Given the description of an element on the screen output the (x, y) to click on. 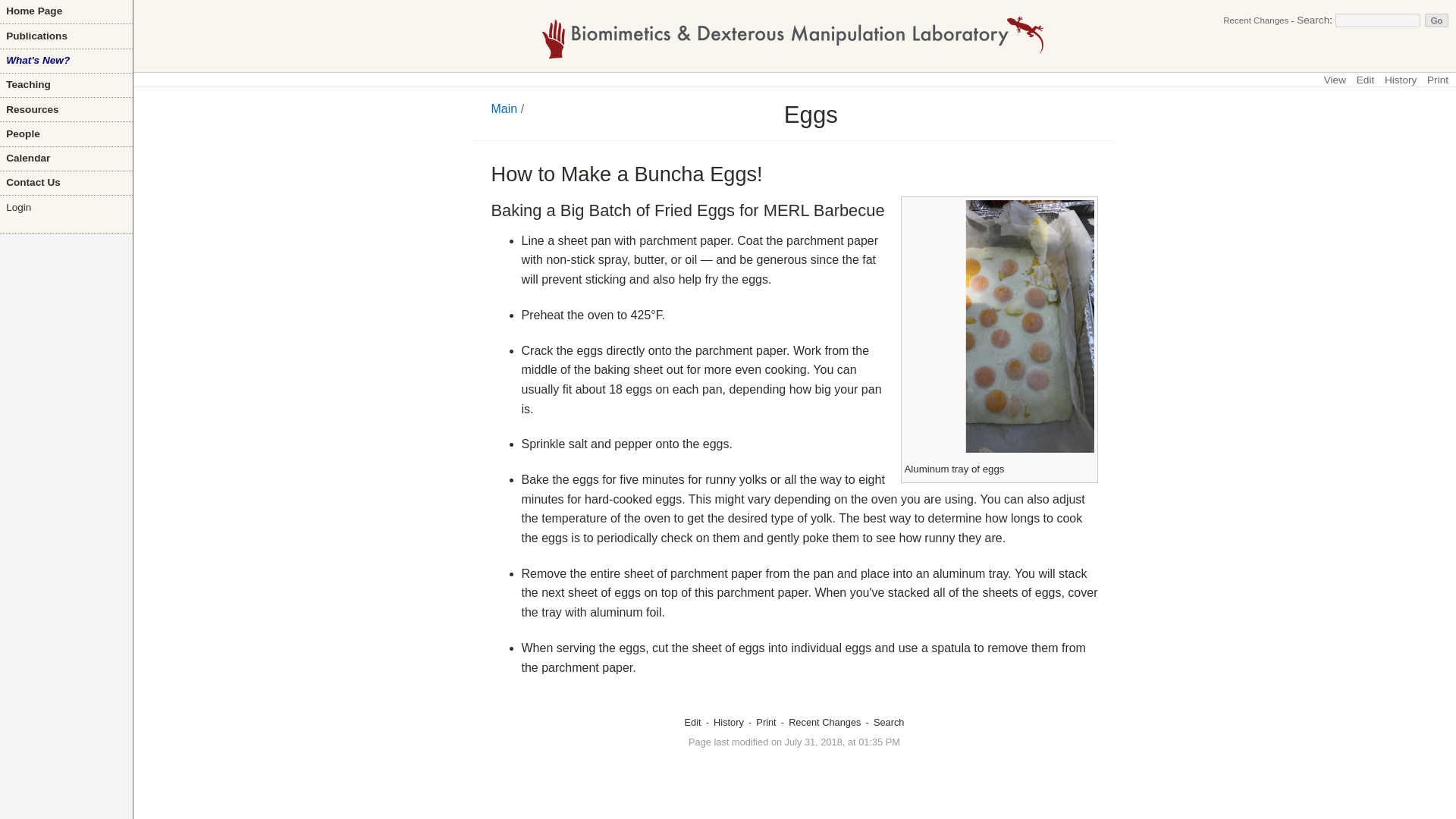
Main (505, 108)
What's New? (66, 60)
Login (66, 207)
Recent Changes (824, 722)
Search (1313, 19)
Calendar (66, 158)
View (1334, 79)
Teaching (66, 85)
Edit (1365, 79)
Home Page (66, 11)
Go (1436, 20)
Edit (692, 722)
Print (765, 722)
History (1400, 79)
People (66, 133)
